Given the description of an element on the screen output the (x, y) to click on. 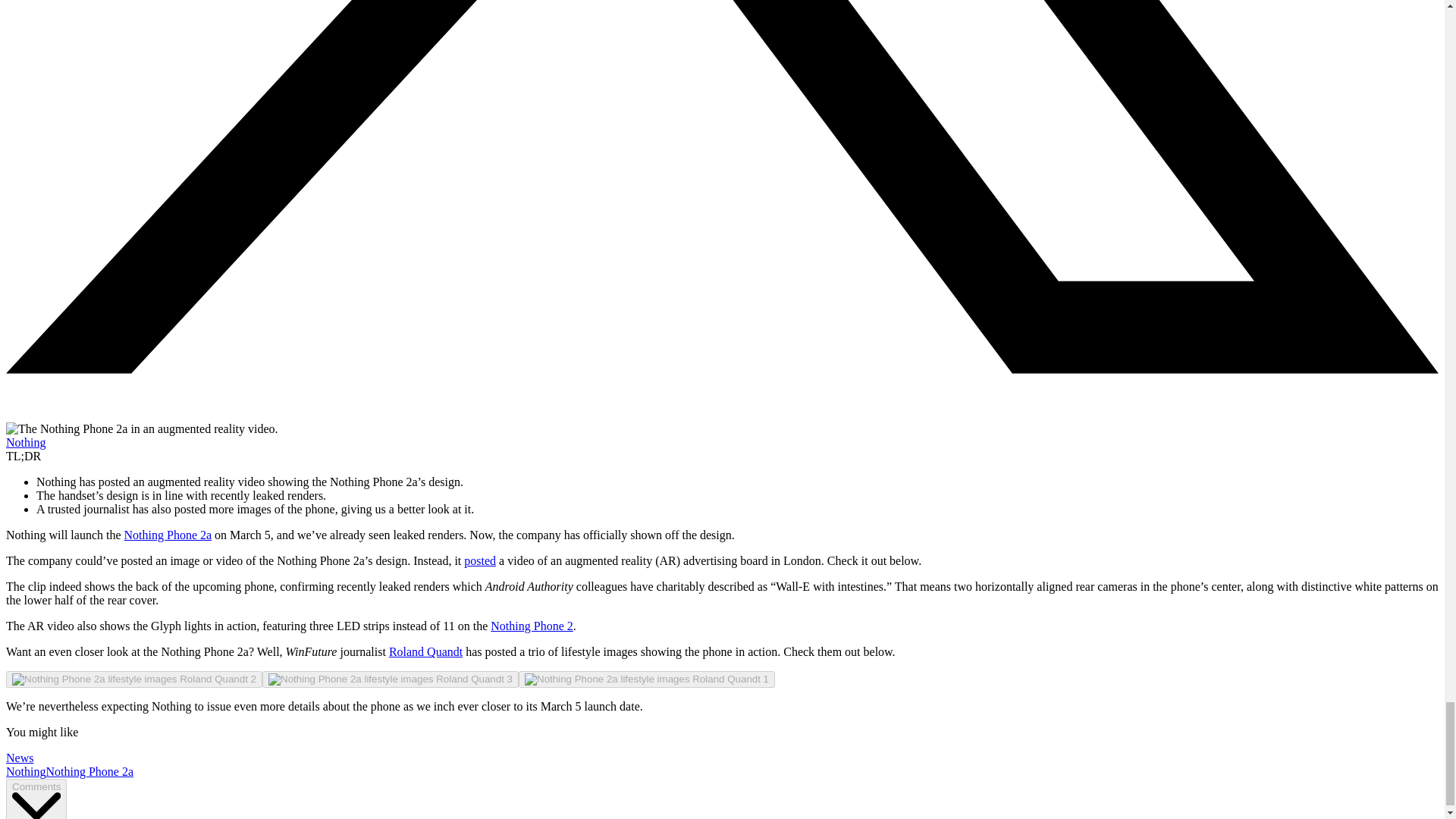
Nothing Phone 2a lifestyle images Roland Quandt 2 (133, 679)
posted (480, 560)
Nothing Phone 2a lifestyle images Roland Quandt 1 (646, 679)
News (19, 757)
Nothing Phone 2a (167, 534)
Roland Quandt (425, 651)
Nothing Phone 2a lifestyle images Roland Quandt 3 (389, 679)
Nothing (25, 441)
Nothing Phone 2a (89, 771)
Nothing Phone 2 (531, 625)
Nothing (25, 771)
Nothing Phone 2a augmented reality (141, 428)
